Given the description of an element on the screen output the (x, y) to click on. 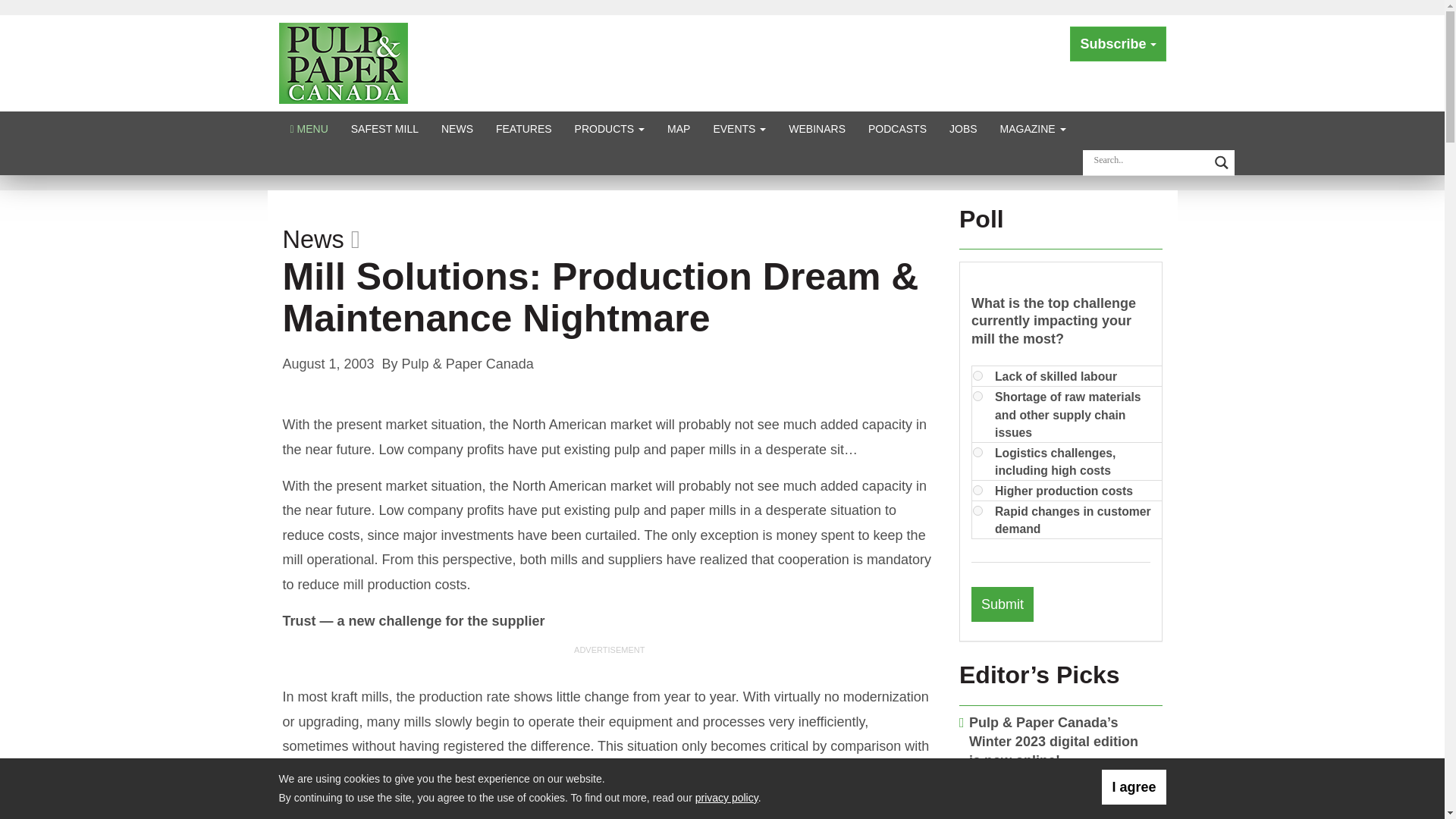
Click to show site navigation (309, 128)
MAP (678, 128)
NEWS (456, 128)
gpoll14aa2f88e (977, 375)
MENU (309, 128)
gpoll139686856 (977, 396)
PODCASTS (897, 128)
FEATURES (523, 128)
MAGAZINE (1032, 128)
Pulp and Paper Canada (343, 61)
gpoll1db2c9877 (977, 490)
Submit (1002, 604)
SAFEST MILL (384, 128)
gpoll1174047cc (977, 452)
EVENTS (739, 128)
